Given the description of an element on the screen output the (x, y) to click on. 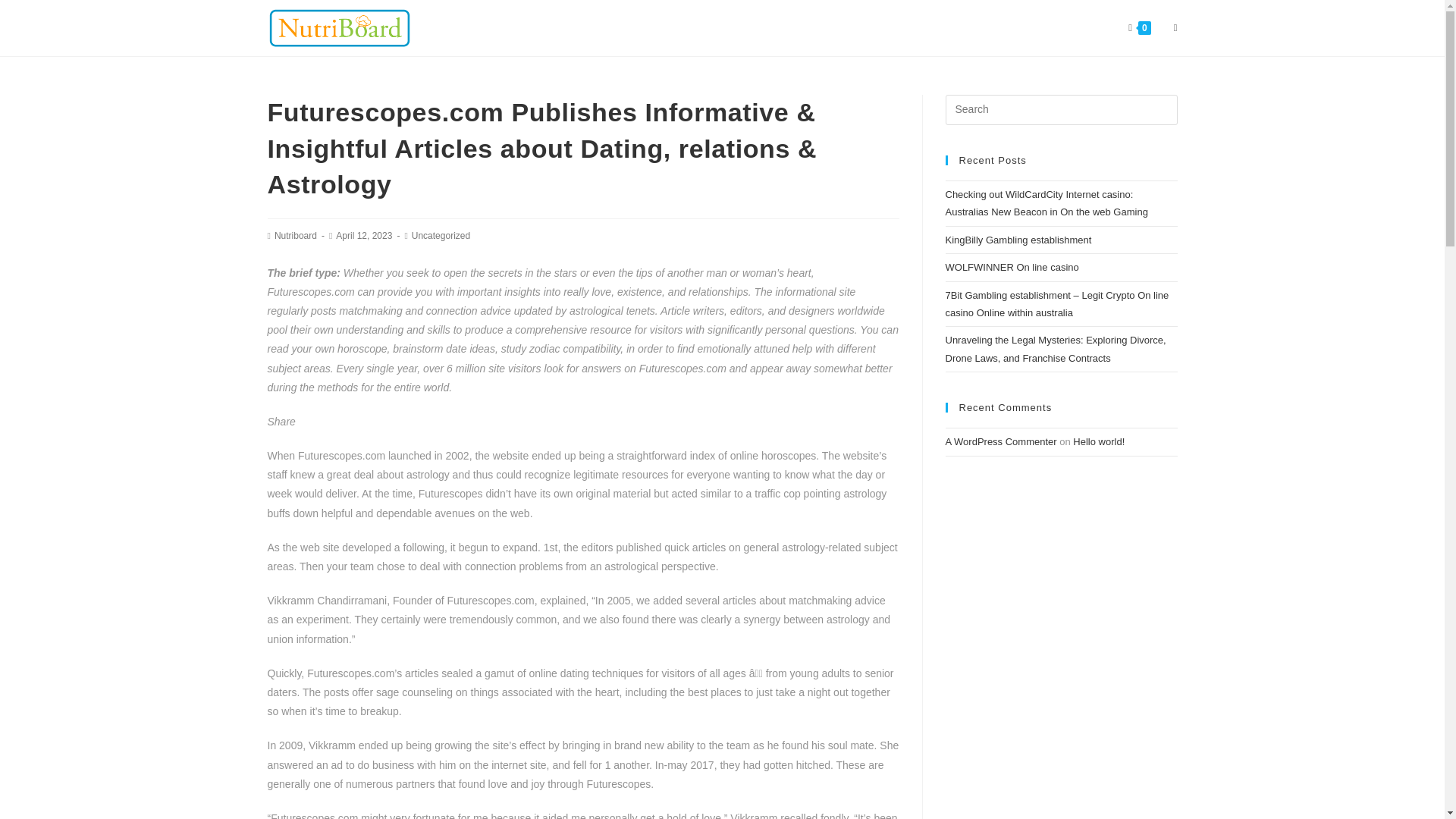
Nutriboard (296, 235)
Posts by Nutriboard (296, 235)
A WordPress Commenter (1000, 441)
Hello world! (1098, 441)
WOLFWINNER On line casino (1011, 266)
KingBilly Gambling establishment (1017, 239)
Uncategorized (441, 235)
